Given the description of an element on the screen output the (x, y) to click on. 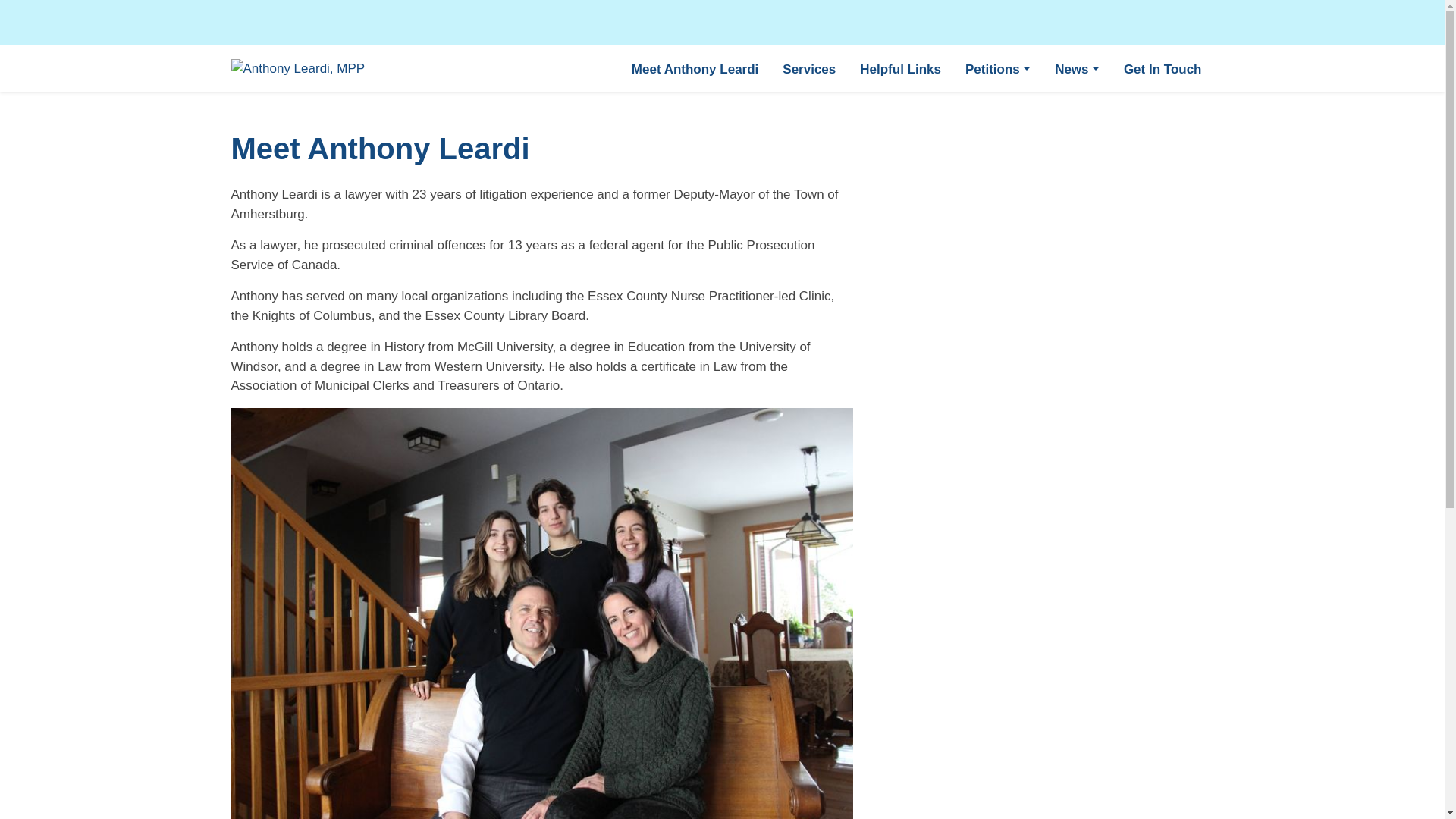
News (1077, 68)
Get In Touch (1163, 68)
Meet Anthony Leardi (695, 68)
Services (808, 68)
Helpful Links (900, 68)
Petitions (997, 68)
